Given the description of an element on the screen output the (x, y) to click on. 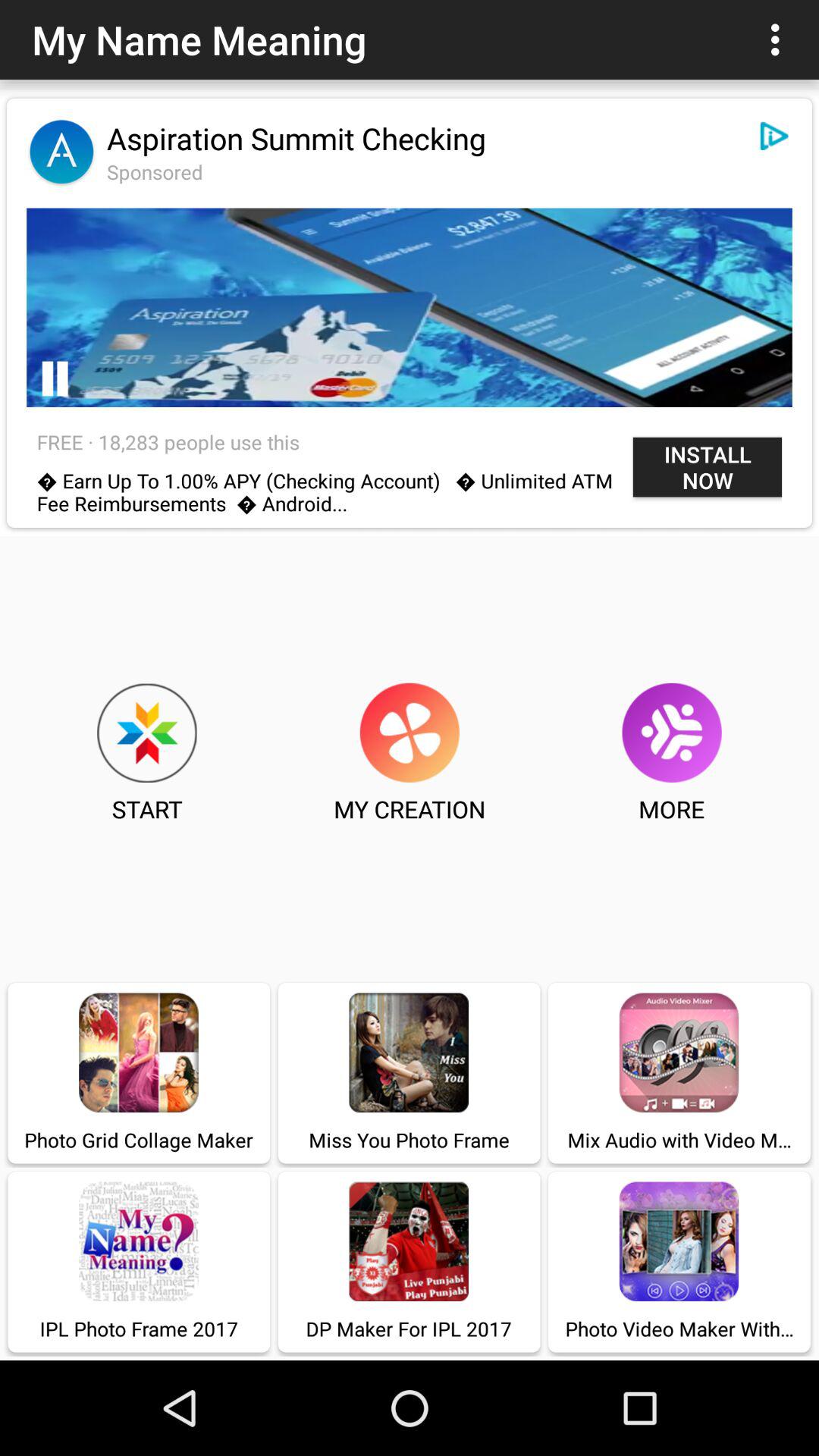
select item above the free 18 283 icon (54, 378)
